Given the description of an element on the screen output the (x, y) to click on. 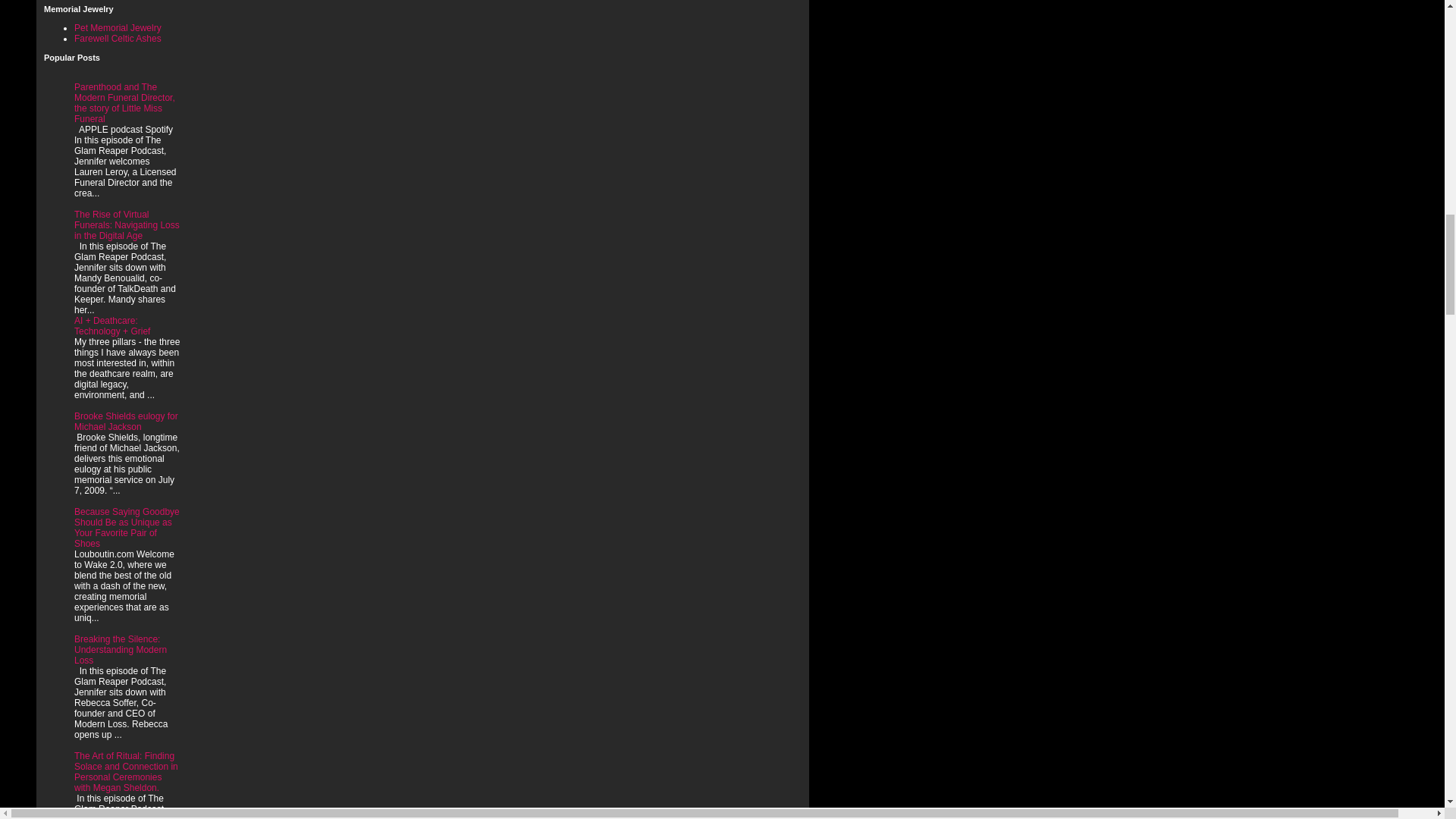
Pet Memorial Jewelry (117, 27)
